Given the description of an element on the screen output the (x, y) to click on. 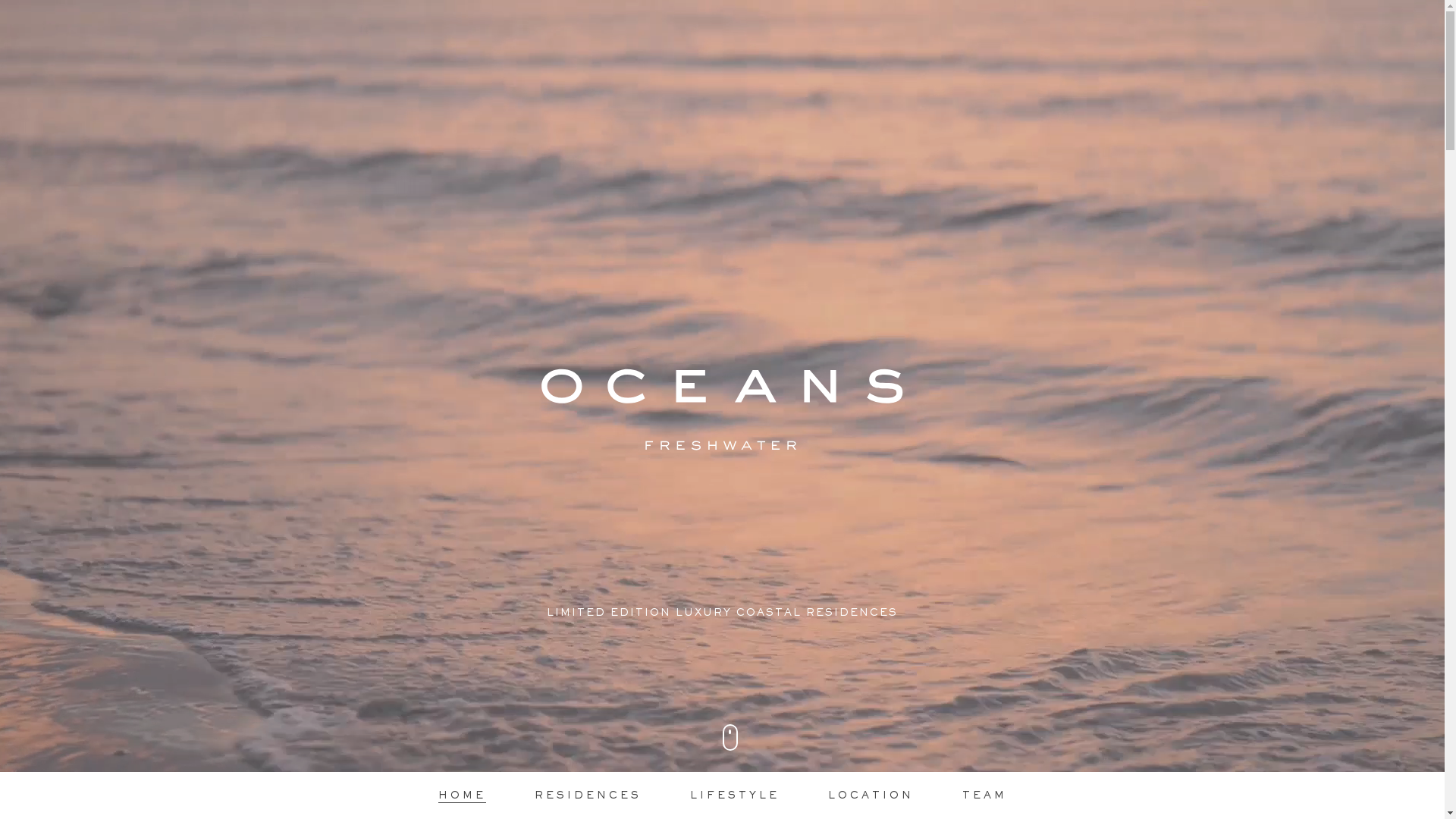
LOCATION Element type: text (870, 796)
HOME Element type: text (462, 796)
TEAM Element type: text (983, 796)
RESIDENCES Element type: text (586, 796)
LIFESTYLE Element type: text (734, 796)
